Given the description of an element on the screen output the (x, y) to click on. 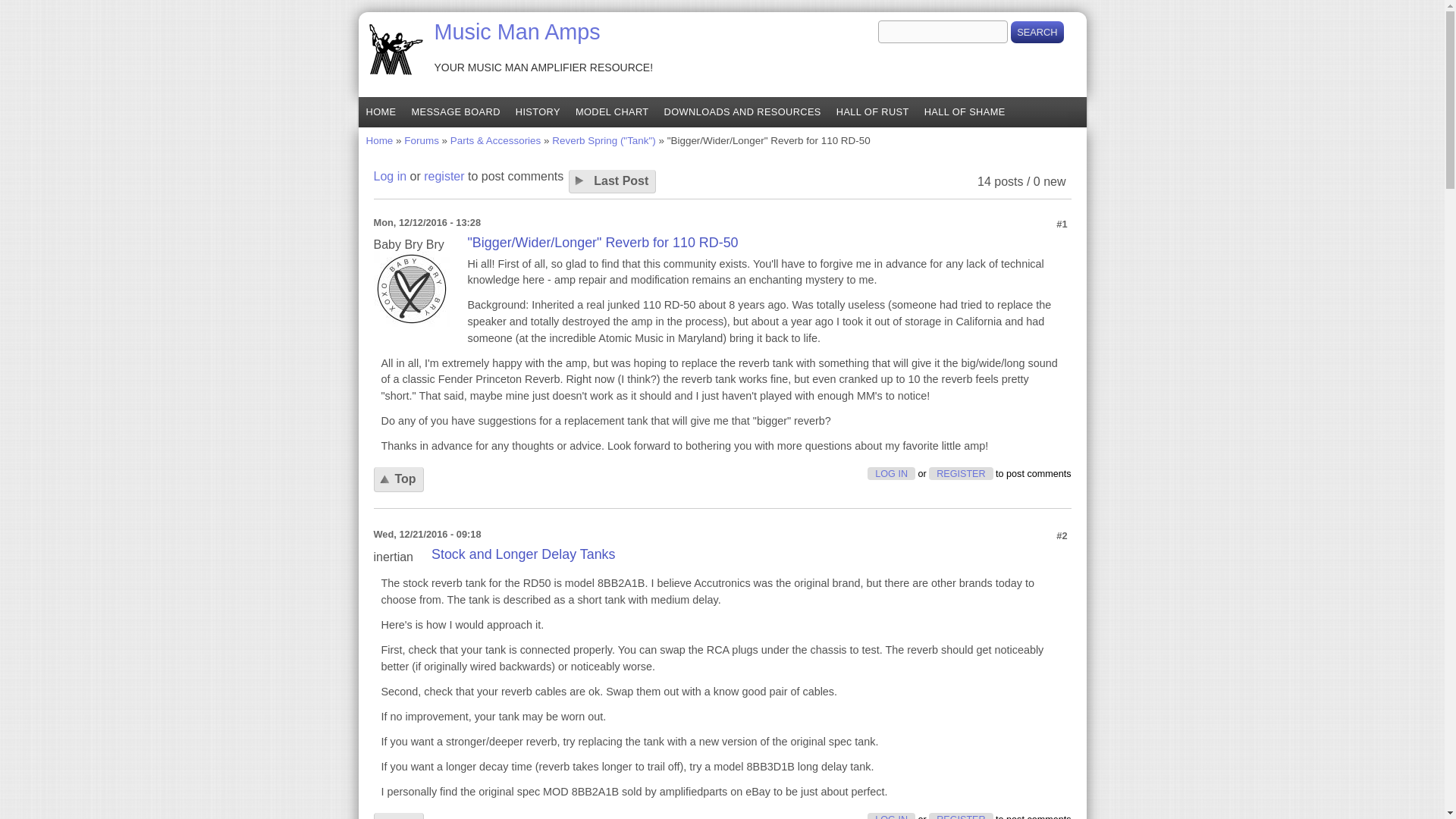
Jump to top of page (397, 816)
Baby Bry Bry's picture (410, 288)
REGISTER (960, 816)
HOME (380, 112)
MODEL CHART (611, 112)
LOG IN (891, 816)
DOWNLOADS AND RESOURCES (742, 112)
Home (379, 140)
Home (516, 31)
Search (1036, 32)
Log in (389, 175)
Top (397, 479)
Jump to top of page (397, 479)
HALL OF SHAME (965, 112)
